Given the description of an element on the screen output the (x, y) to click on. 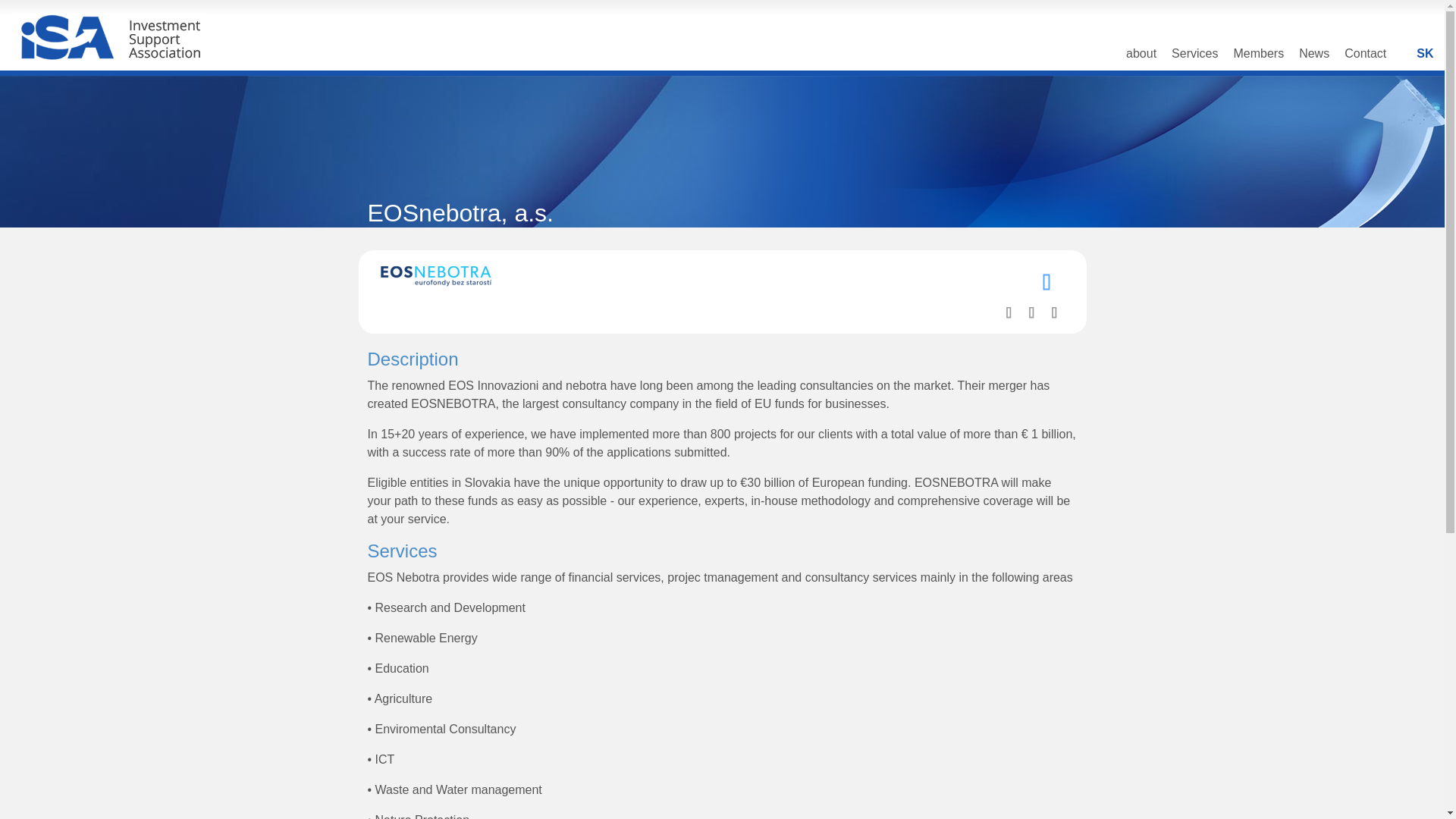
Other services (1053, 310)
about (1140, 58)
Services (1194, 58)
Euro Funds (1046, 280)
Management (1031, 310)
Environmental (1008, 310)
Members (1258, 58)
